Given the description of an element on the screen output the (x, y) to click on. 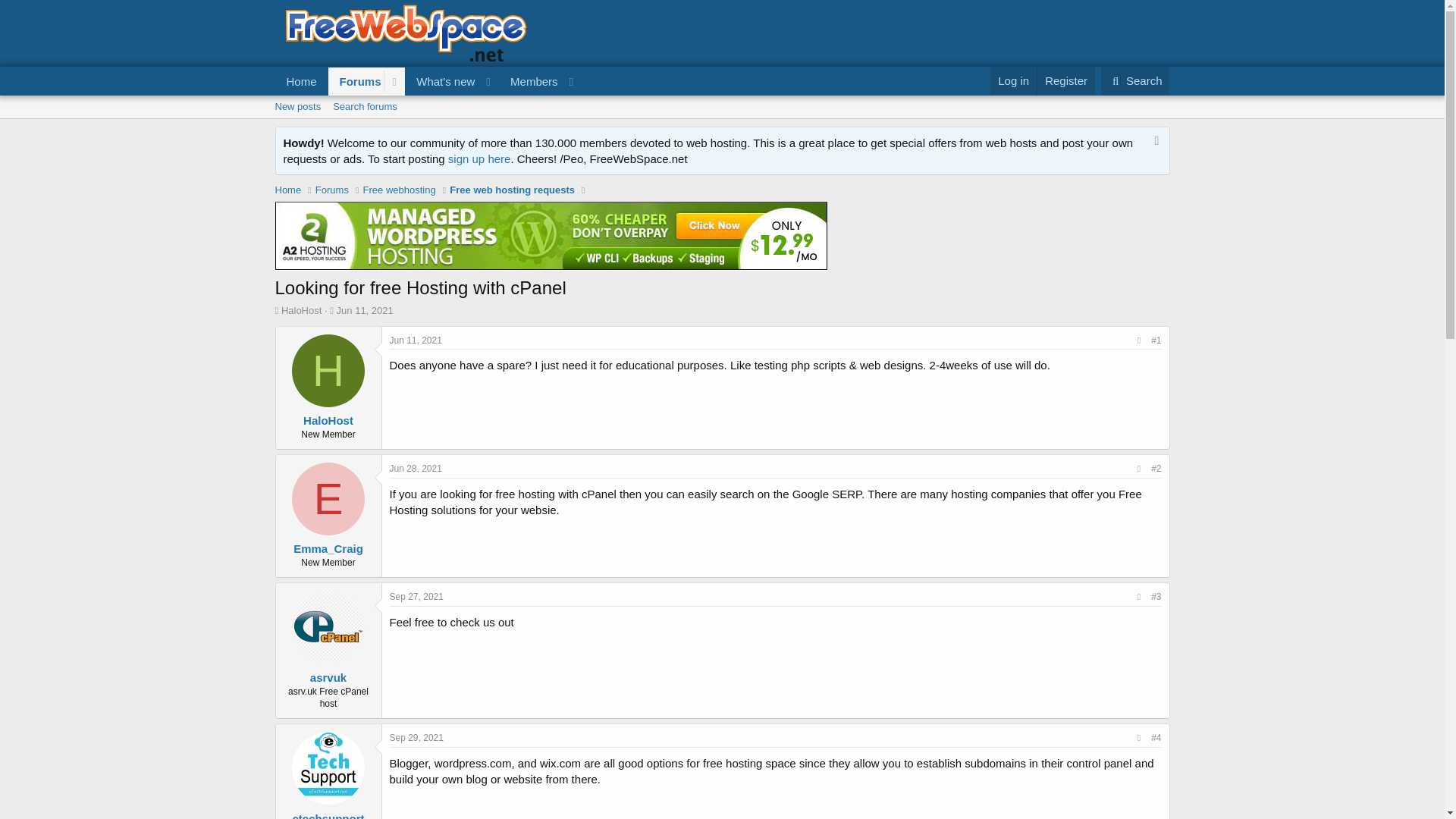
Home (288, 190)
Sep 29, 2021 at 1:14 PM (417, 737)
Log in (1013, 80)
H (328, 370)
Jun 28, 2021 at 11:00 AM (416, 468)
What's new (440, 81)
Register (1065, 80)
Jun 11, 2021 at 8:52 PM (364, 310)
managed wordpress hosting (551, 236)
